Given the description of an element on the screen output the (x, y) to click on. 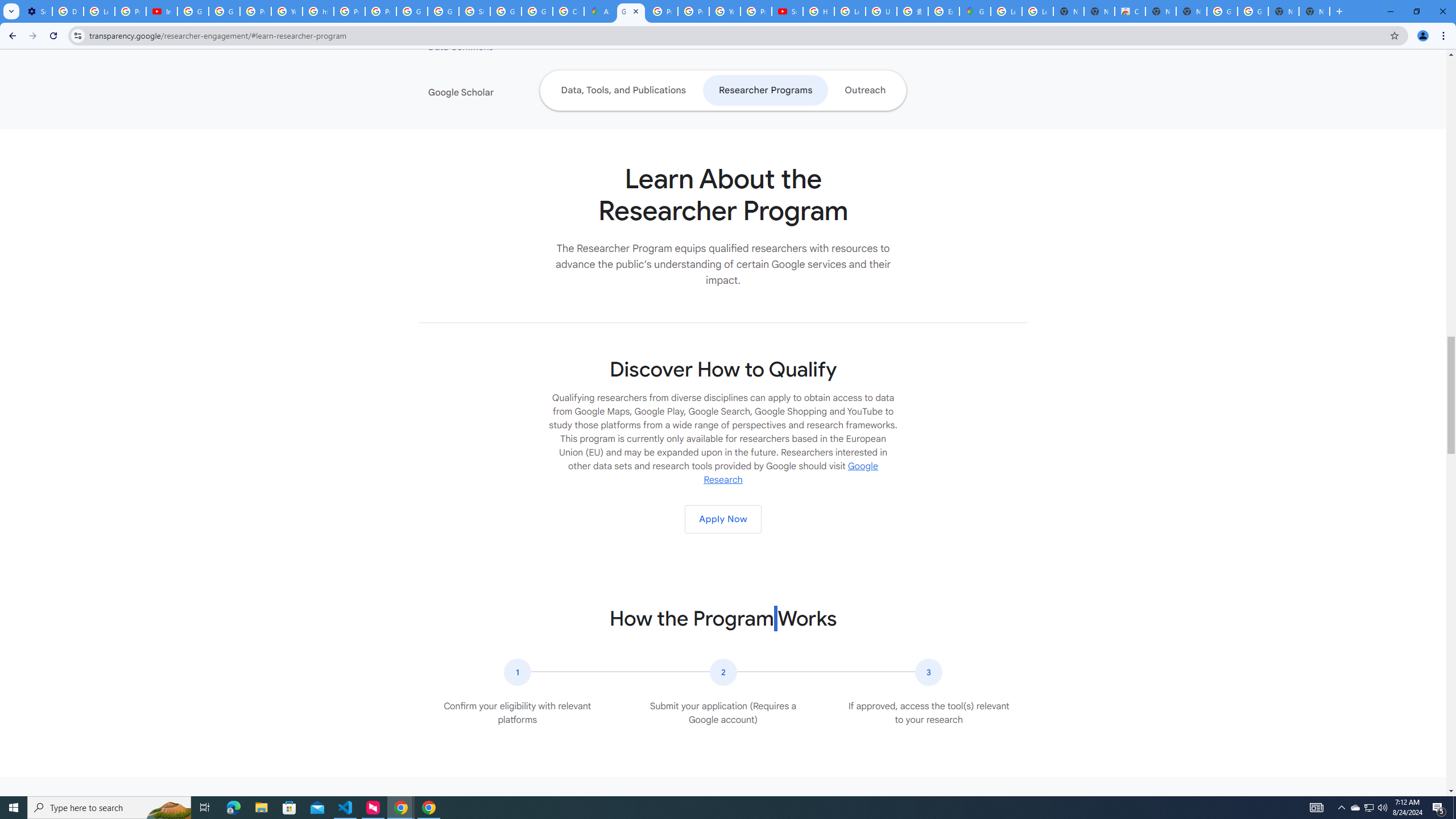
New Tab (1314, 11)
Data Commons (497, 46)
Learn how to find your photos - Google Photos Help (98, 11)
Google Scholar (497, 92)
Google Account Help (192, 11)
How Chrome protects your passwords - Google Chrome Help (818, 11)
Google Research (790, 472)
Google Images (1222, 11)
Explore new street-level details - Google Maps Help (943, 11)
